Given the description of an element on the screen output the (x, y) to click on. 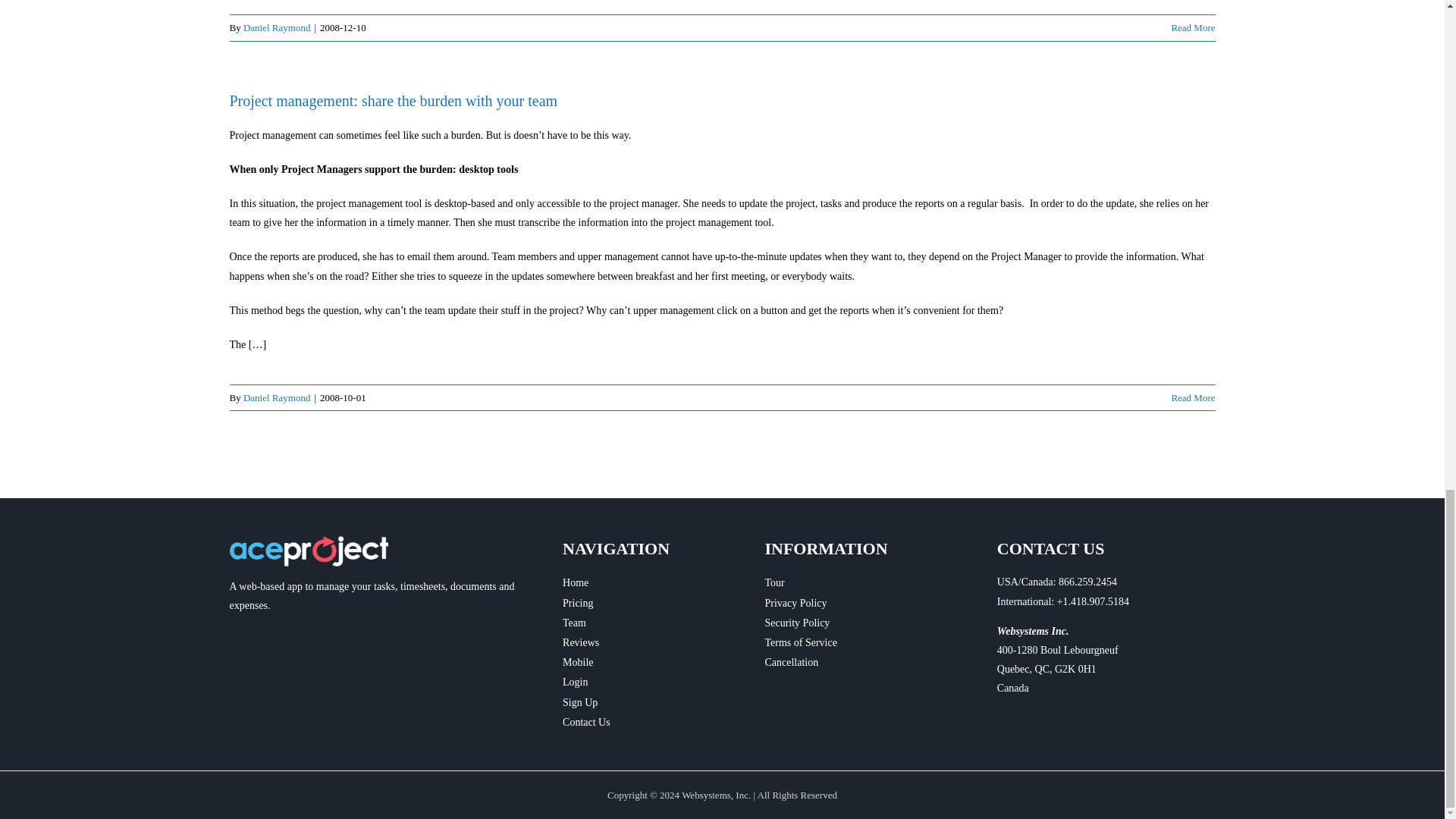
Posts by Daniel Raymond (276, 397)
Read More (1192, 27)
Read More (1192, 397)
Posts by Daniel Raymond (276, 27)
Daniel Raymond (276, 27)
Daniel Raymond (276, 397)
Project management: share the burden with your team (392, 100)
